Given the description of an element on the screen output the (x, y) to click on. 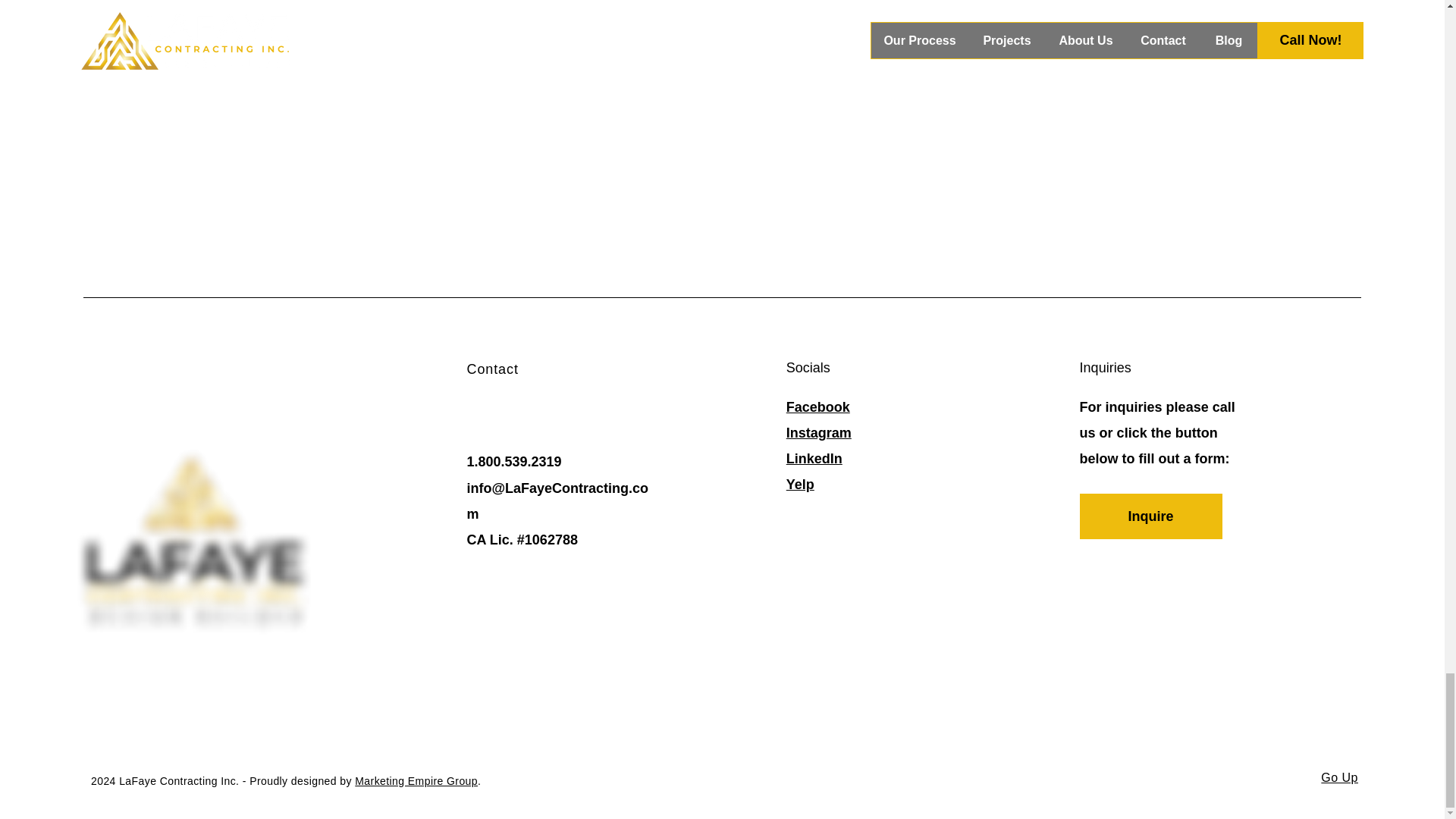
Instagram (818, 432)
Inquire (1151, 515)
LinkedIn (814, 458)
Go Up (1339, 777)
Yelp (799, 484)
1.800.539.2319 (514, 461)
Marketing Empire Group (416, 780)
LCI Black-Primary.png (194, 542)
Facebook (818, 406)
